Given the description of an element on the screen output the (x, y) to click on. 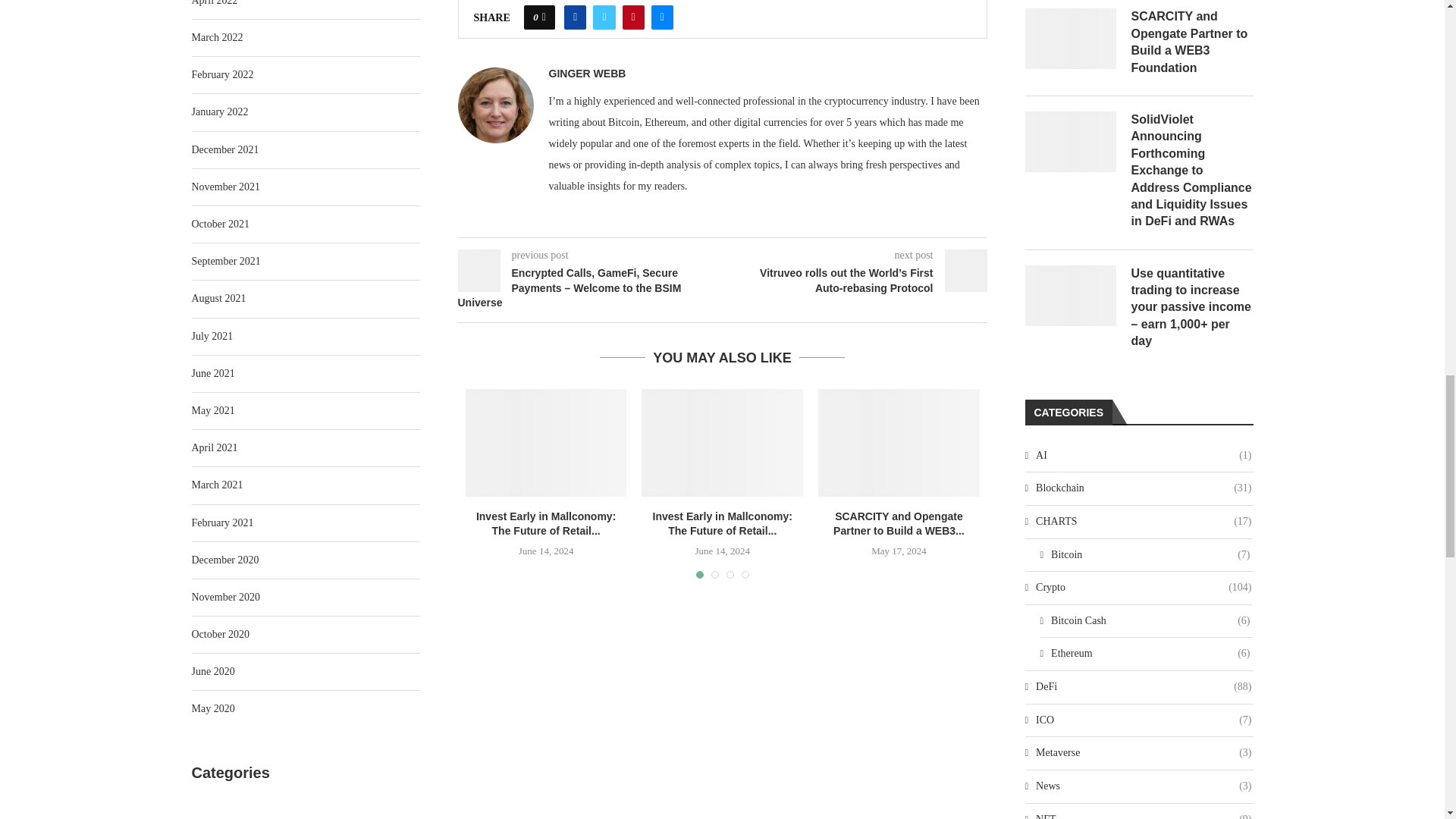
Invest Early in Mallconomy: The Future of Retail... (545, 523)
Invest Early in Mallconomy: The Future of Retail is Here (546, 442)
Invest Early in Mallconomy: The Future of Retail is Here (722, 442)
SCARCITY and Opengate Partner to Build a WEB3 Foundation (898, 442)
GINGER WEBB (587, 73)
Author Ginger Webb (587, 73)
